Given the description of an element on the screen output the (x, y) to click on. 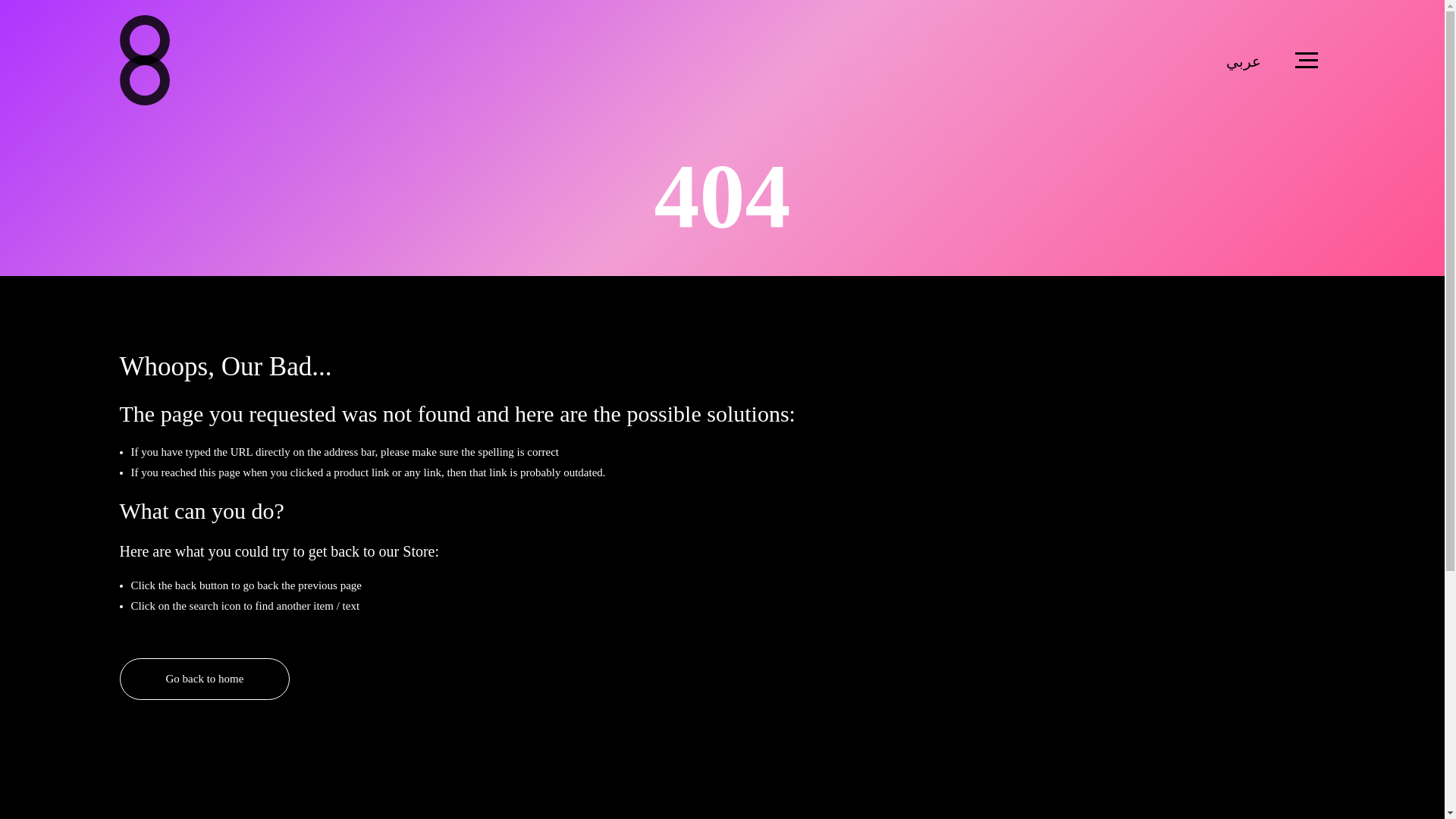
Go back to home (204, 679)
